Given the description of an element on the screen output the (x, y) to click on. 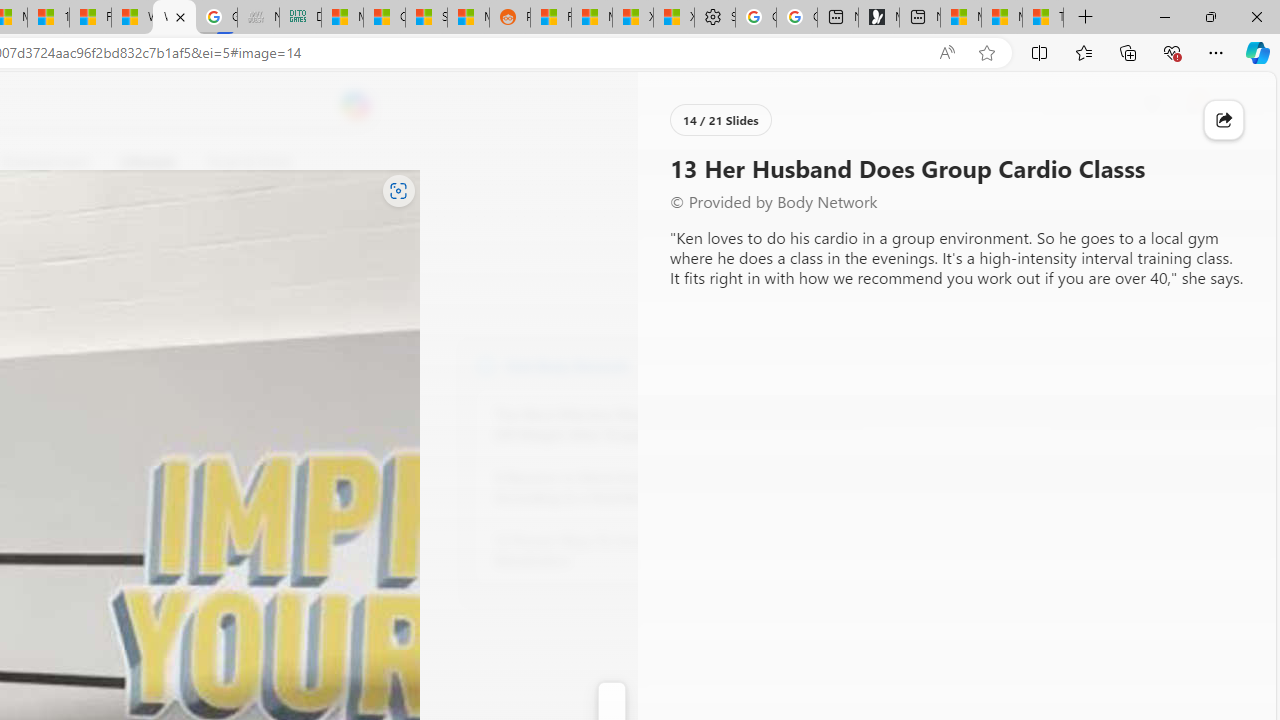
14 Common Myths Debunked By Scientific Facts (48, 17)
Food & Drink (249, 162)
Visit Body Network website (733, 364)
8 Reasons to Drink Kombucha, According to a Nutritionist (603, 488)
Go to publisher's site (180, 258)
